Given the description of an element on the screen output the (x, y) to click on. 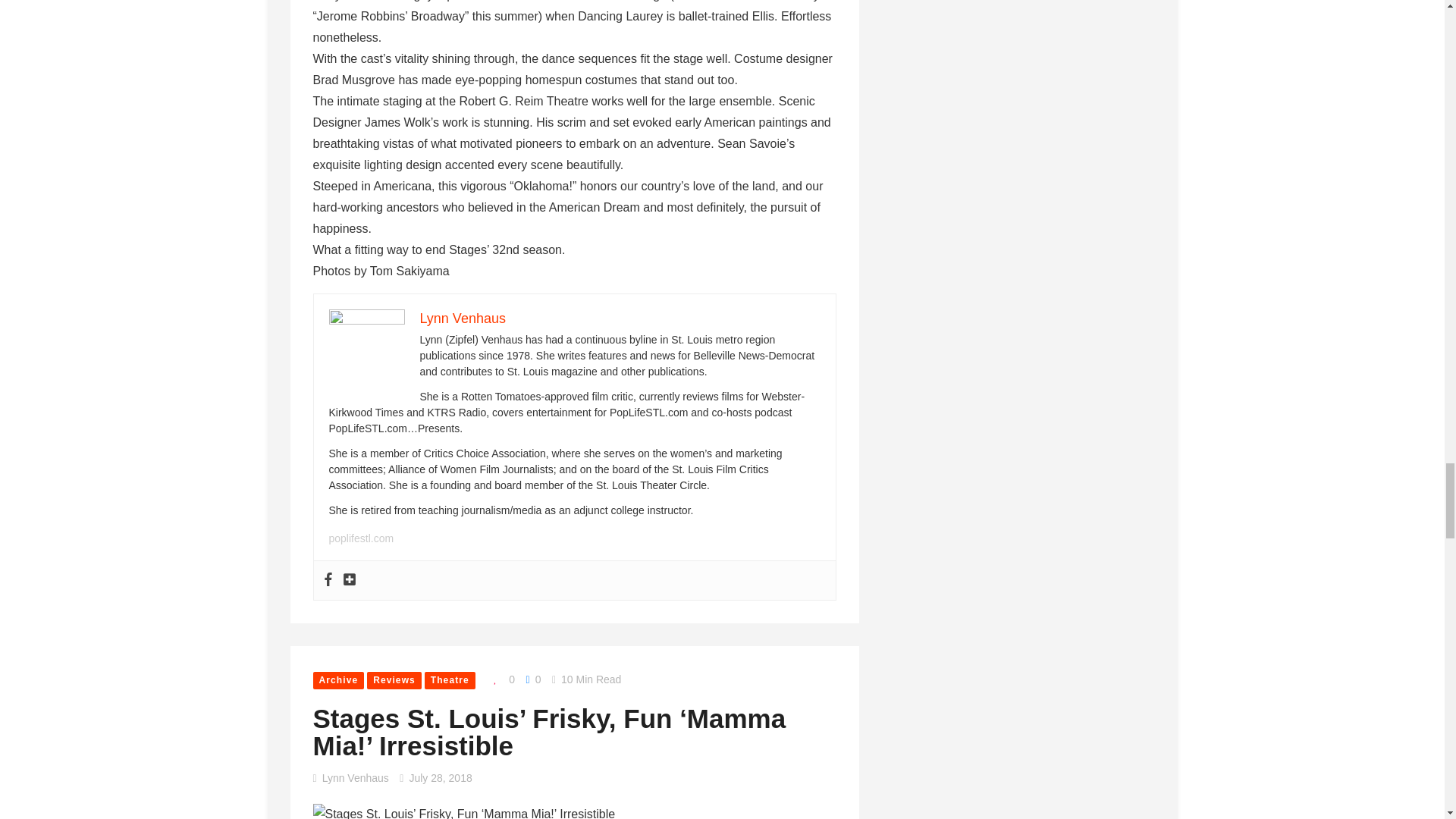
poplifestl.com (361, 538)
Like this (500, 679)
Lynn Venhaus (462, 318)
